Given the description of an element on the screen output the (x, y) to click on. 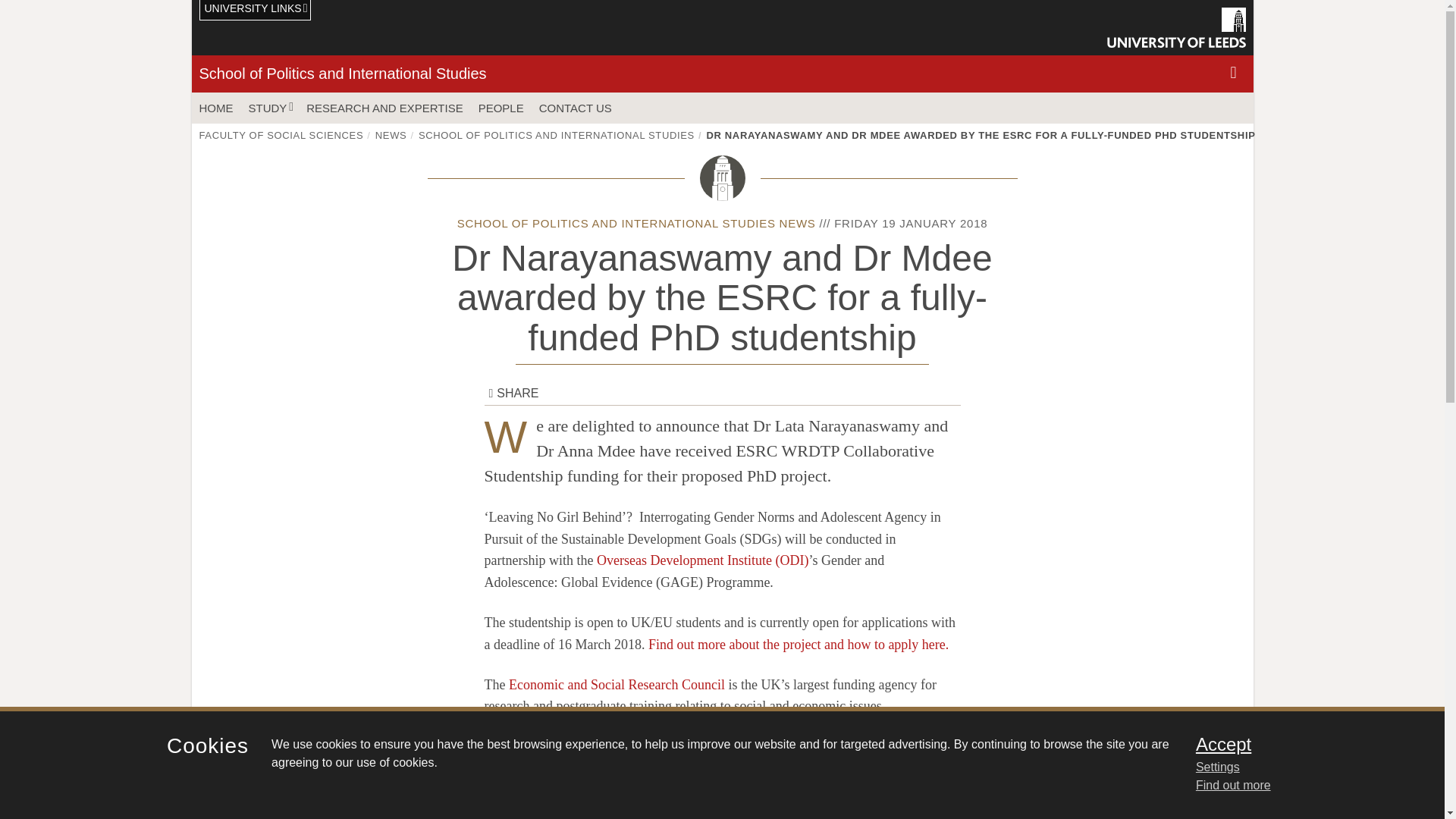
UNIVERSITY LINKS (254, 10)
Accept (1300, 744)
Find out more (1233, 784)
University of Leeds homepage (1176, 27)
Settings (1300, 767)
